Given the description of an element on the screen output the (x, y) to click on. 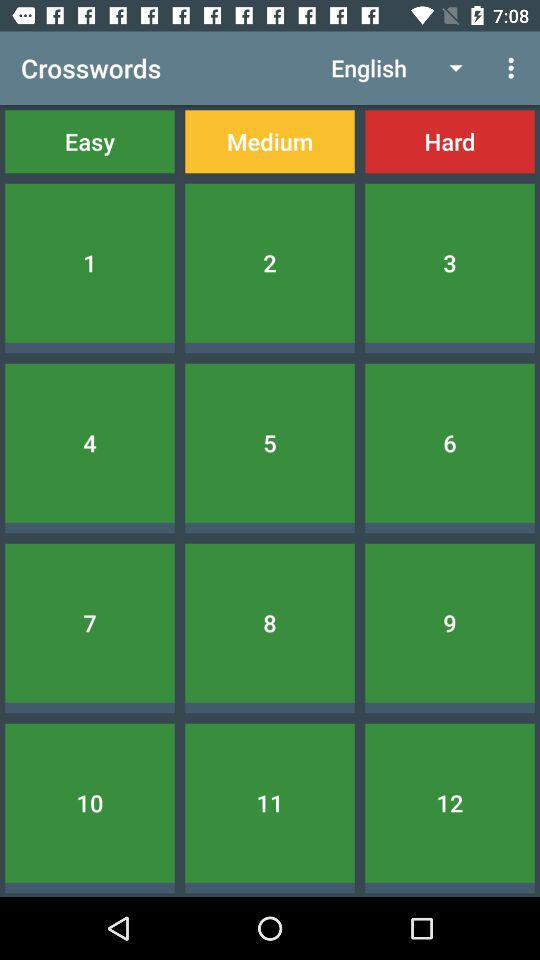
click 5 (269, 442)
